Given the description of an element on the screen output the (x, y) to click on. 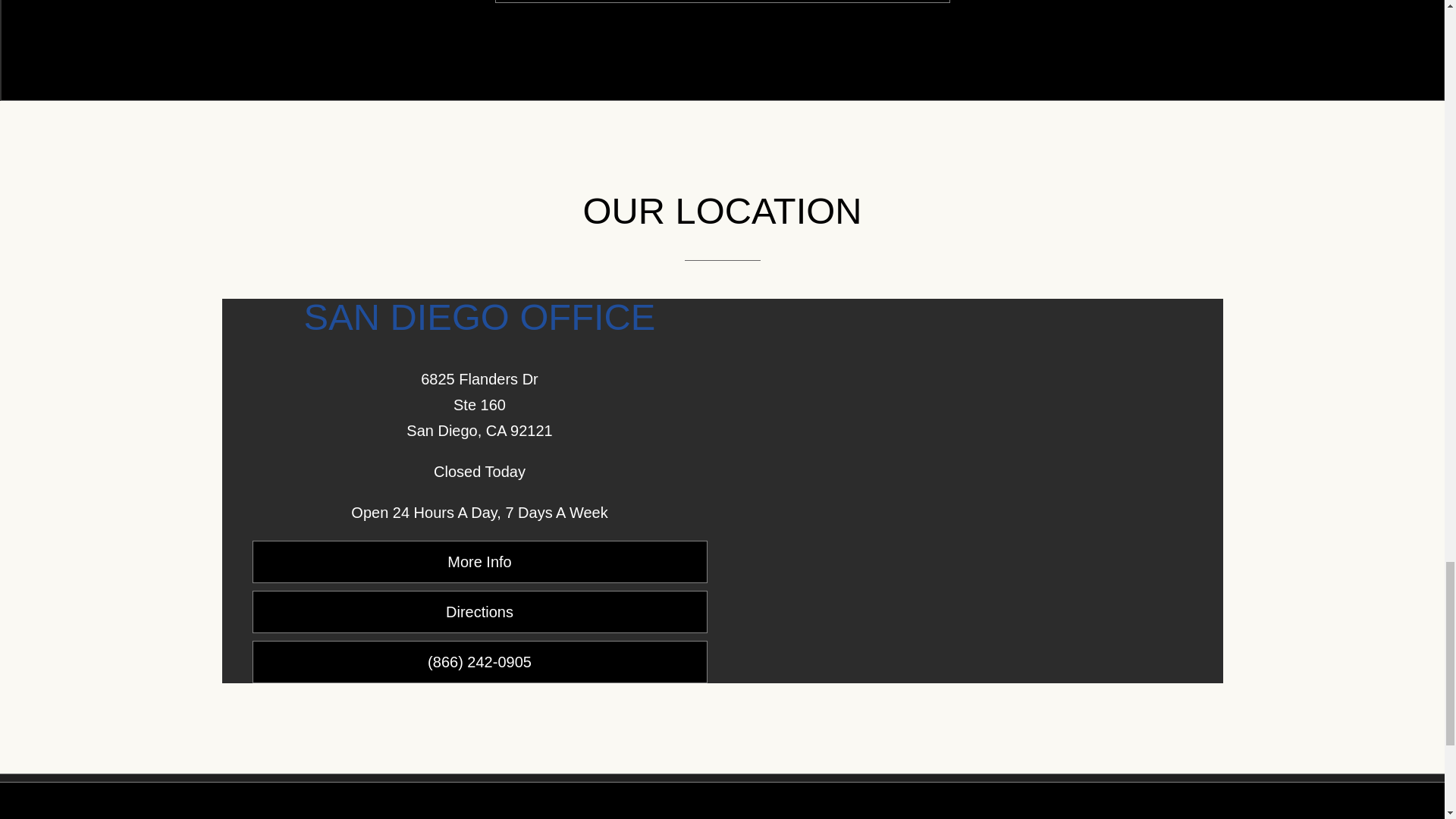
SAN DIEGO OFFICE (480, 316)
Directions (478, 611)
More Info (478, 561)
